Given the description of an element on the screen output the (x, y) to click on. 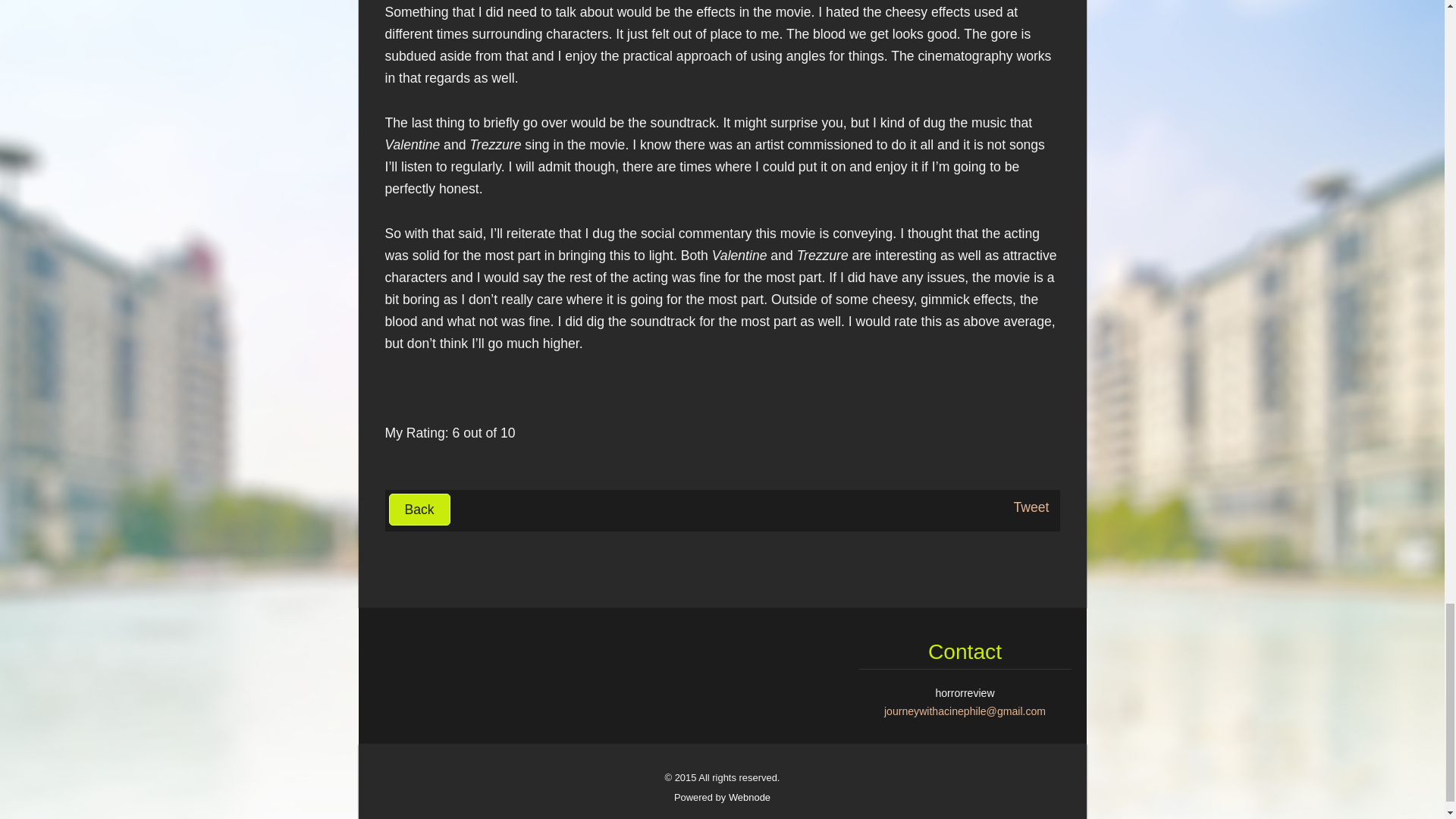
Tweet (1031, 507)
Webnode (749, 797)
Back (418, 509)
